Given the description of an element on the screen output the (x, y) to click on. 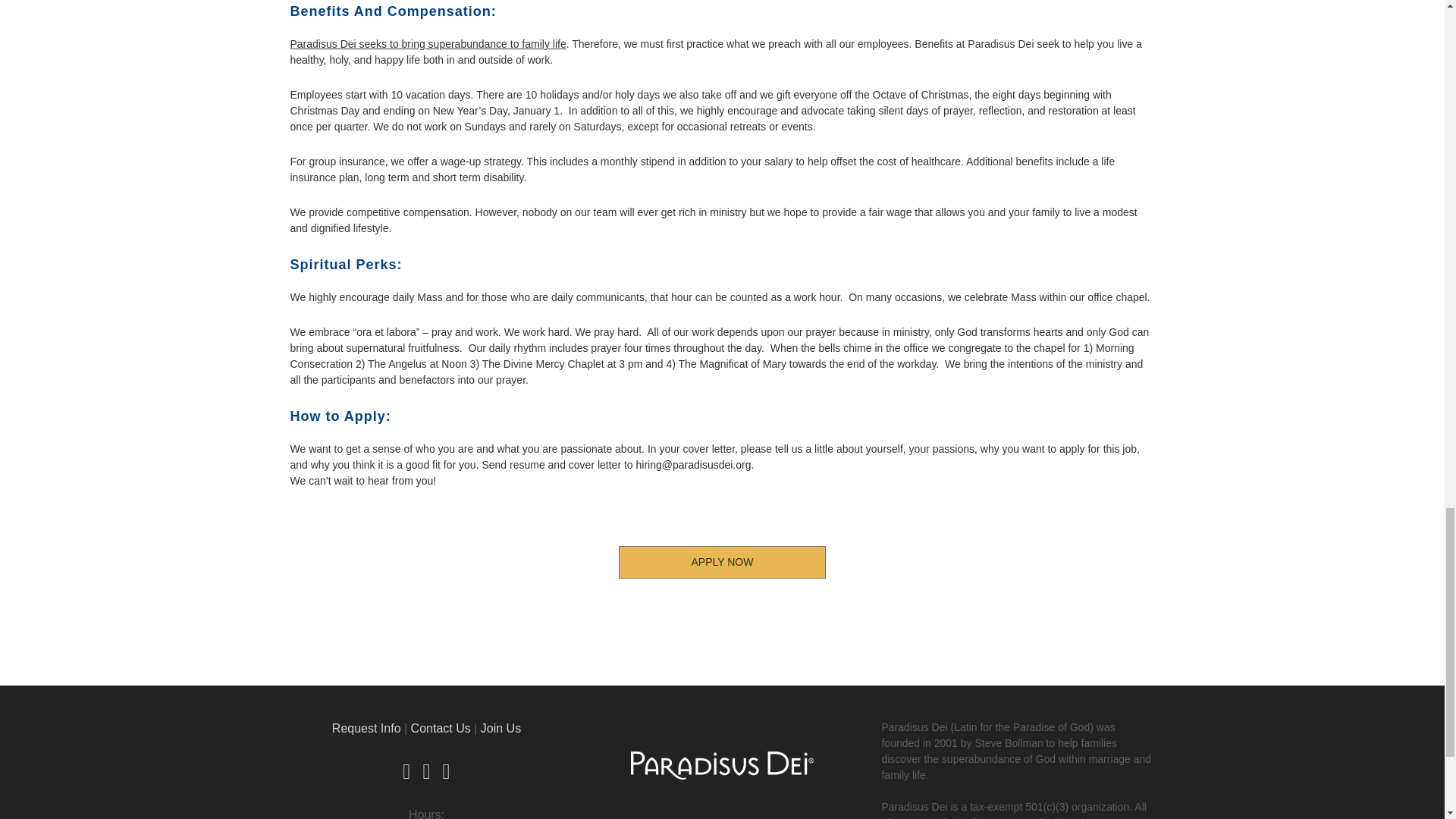
APPLY NOW (721, 562)
Request Info (366, 727)
Contact Us (440, 727)
Join Us (500, 727)
